Given the description of an element on the screen output the (x, y) to click on. 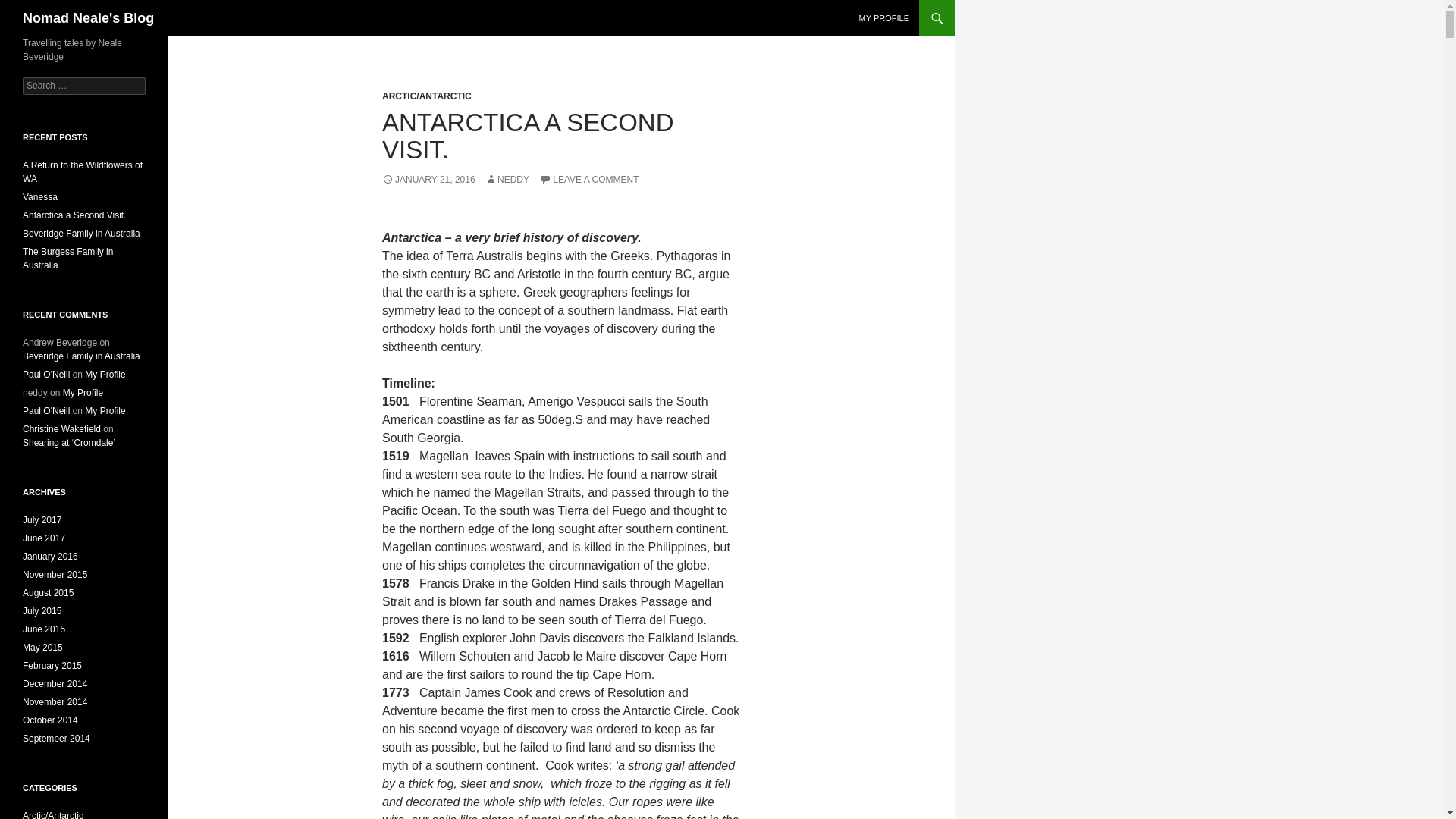
LEAVE A COMMENT (588, 179)
NEDDY (506, 179)
JANUARY 21, 2016 (428, 179)
Nomad Neale's Blog (88, 18)
MY PROFILE (884, 18)
